Given the description of an element on the screen output the (x, y) to click on. 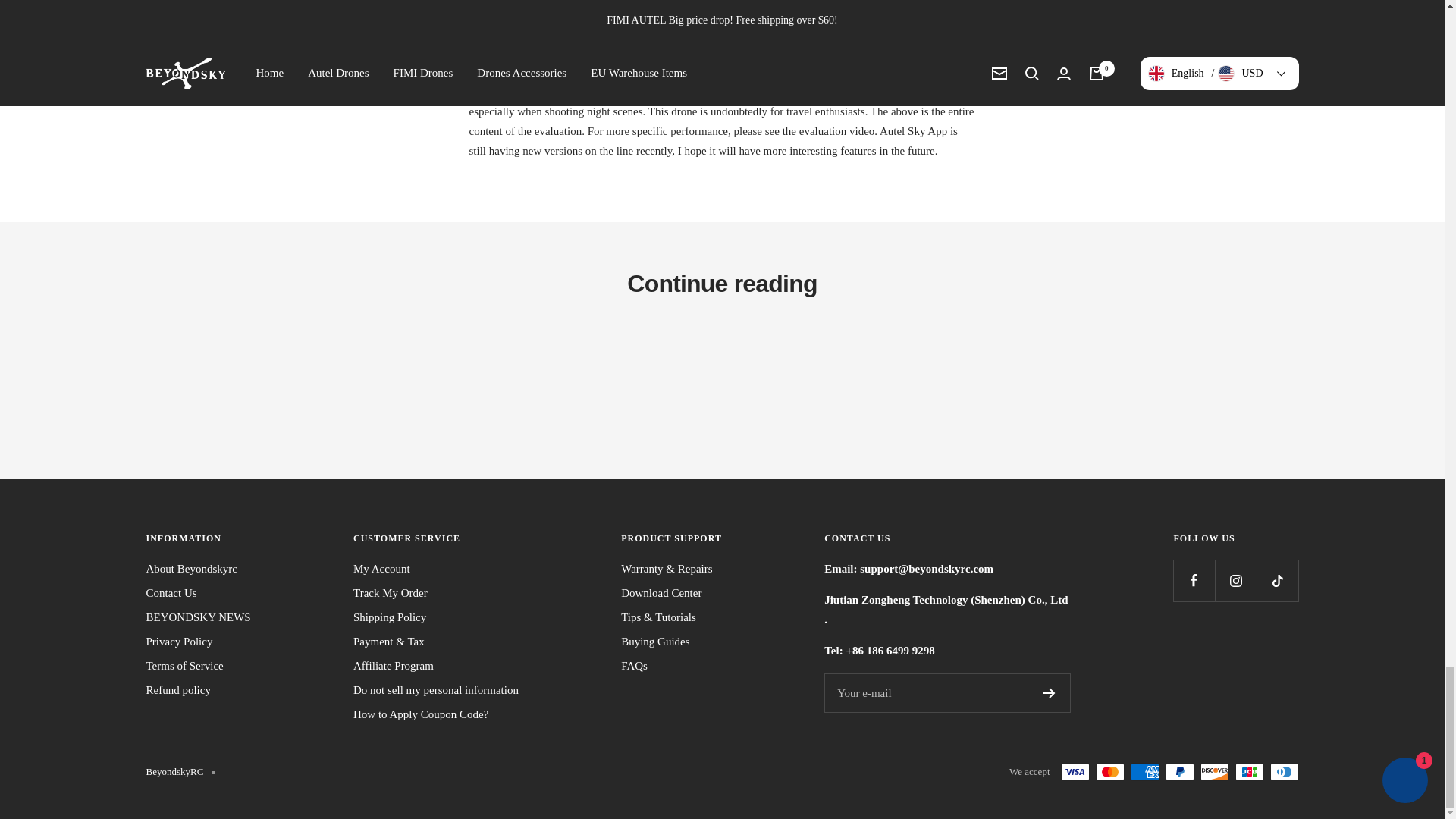
About Beyondskyrc (190, 569)
Register (1048, 692)
